Given the description of an element on the screen output the (x, y) to click on. 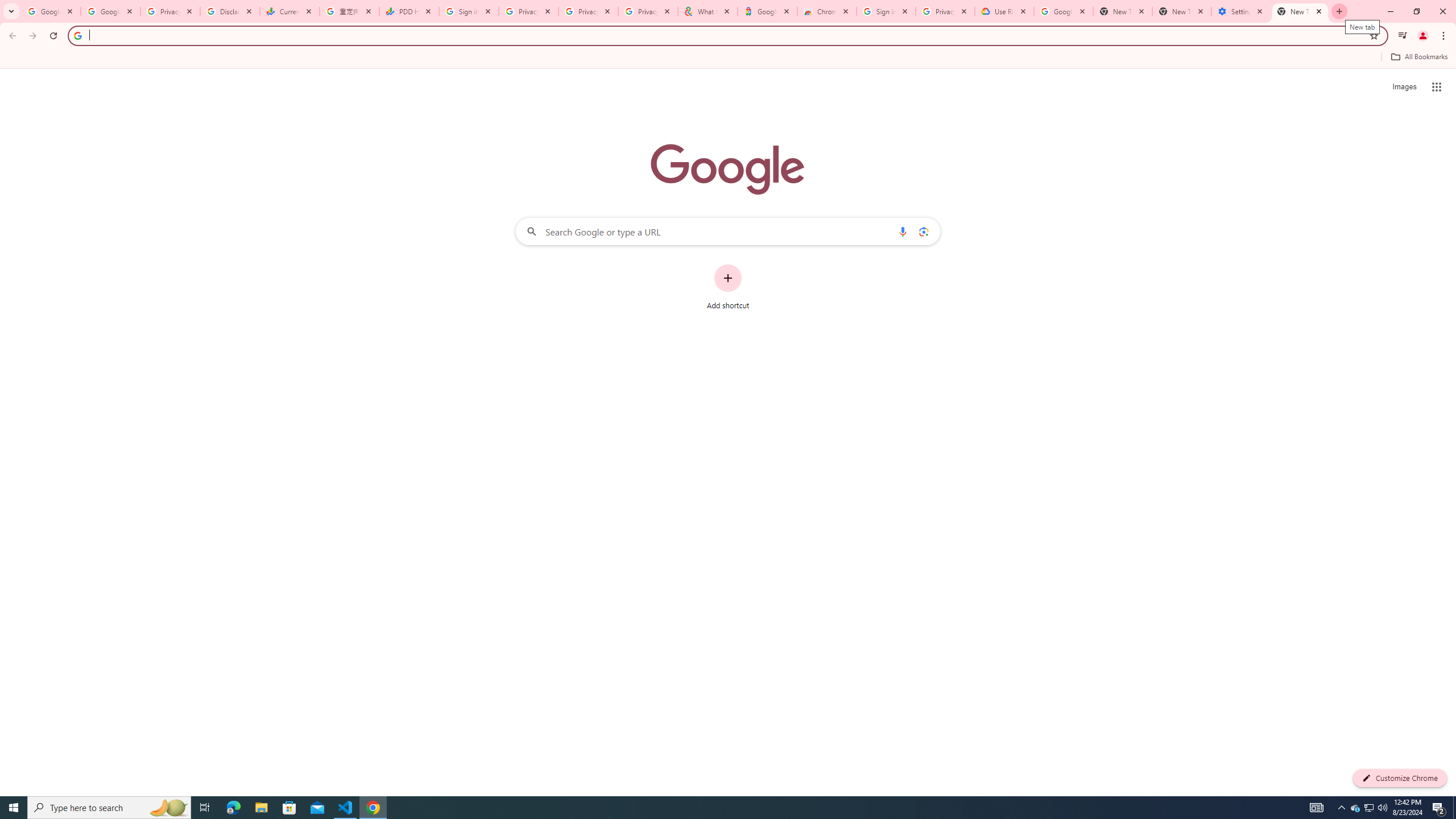
New Tab (1182, 11)
Chrome Web Store - Color themes by Chrome (826, 11)
PDD Holdings Inc - ADR (PDD) Price & News - Google Finance (409, 11)
